Given the description of an element on the screen output the (x, y) to click on. 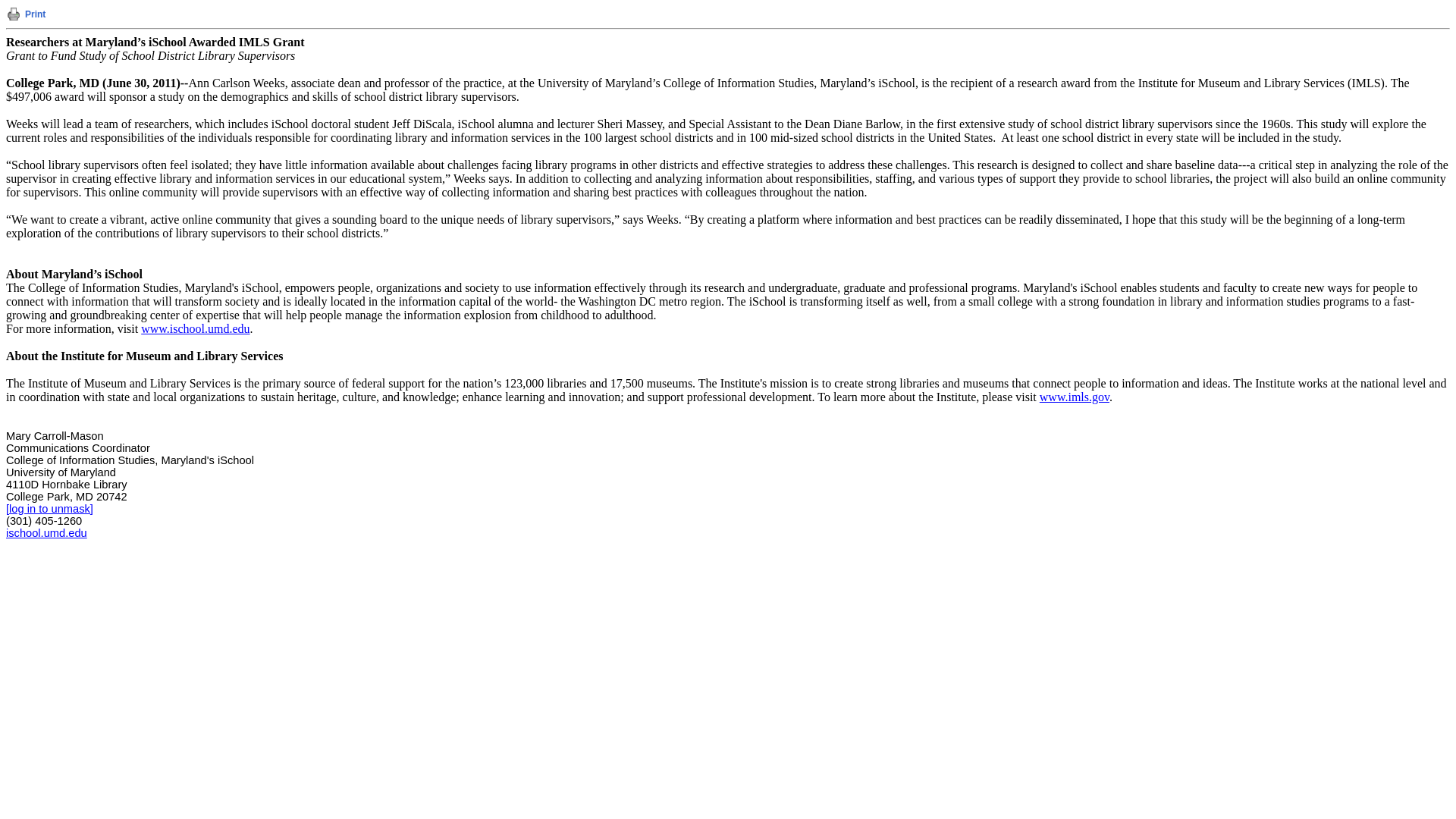
Print (13, 13)
Print (34, 14)
www.ischool.umd.edu (194, 329)
www.imls.gov (1074, 396)
ischool.umd.edu (46, 532)
